Given the description of an element on the screen output the (x, y) to click on. 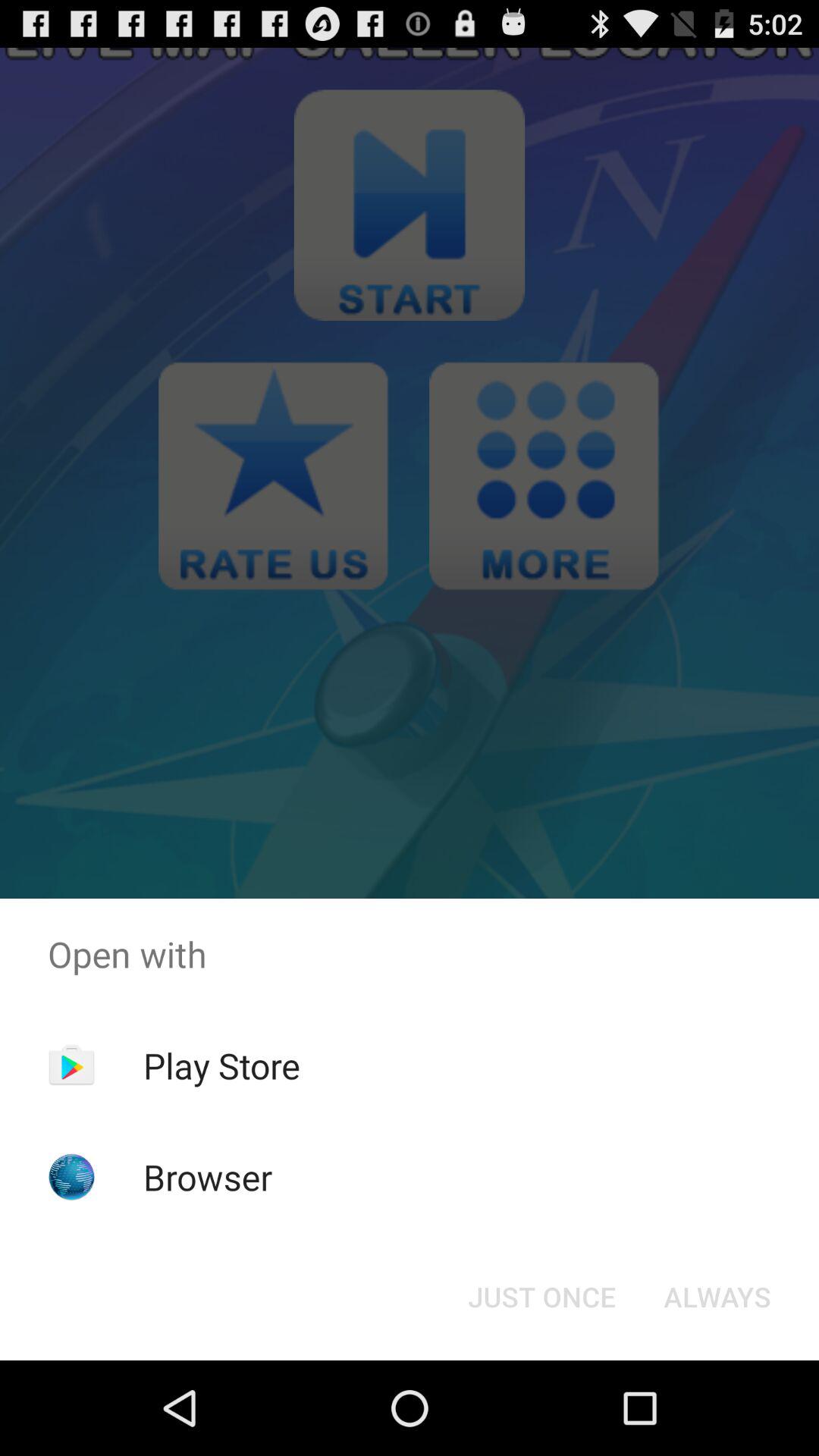
press the icon below the open with app (221, 1065)
